Given the description of an element on the screen output the (x, y) to click on. 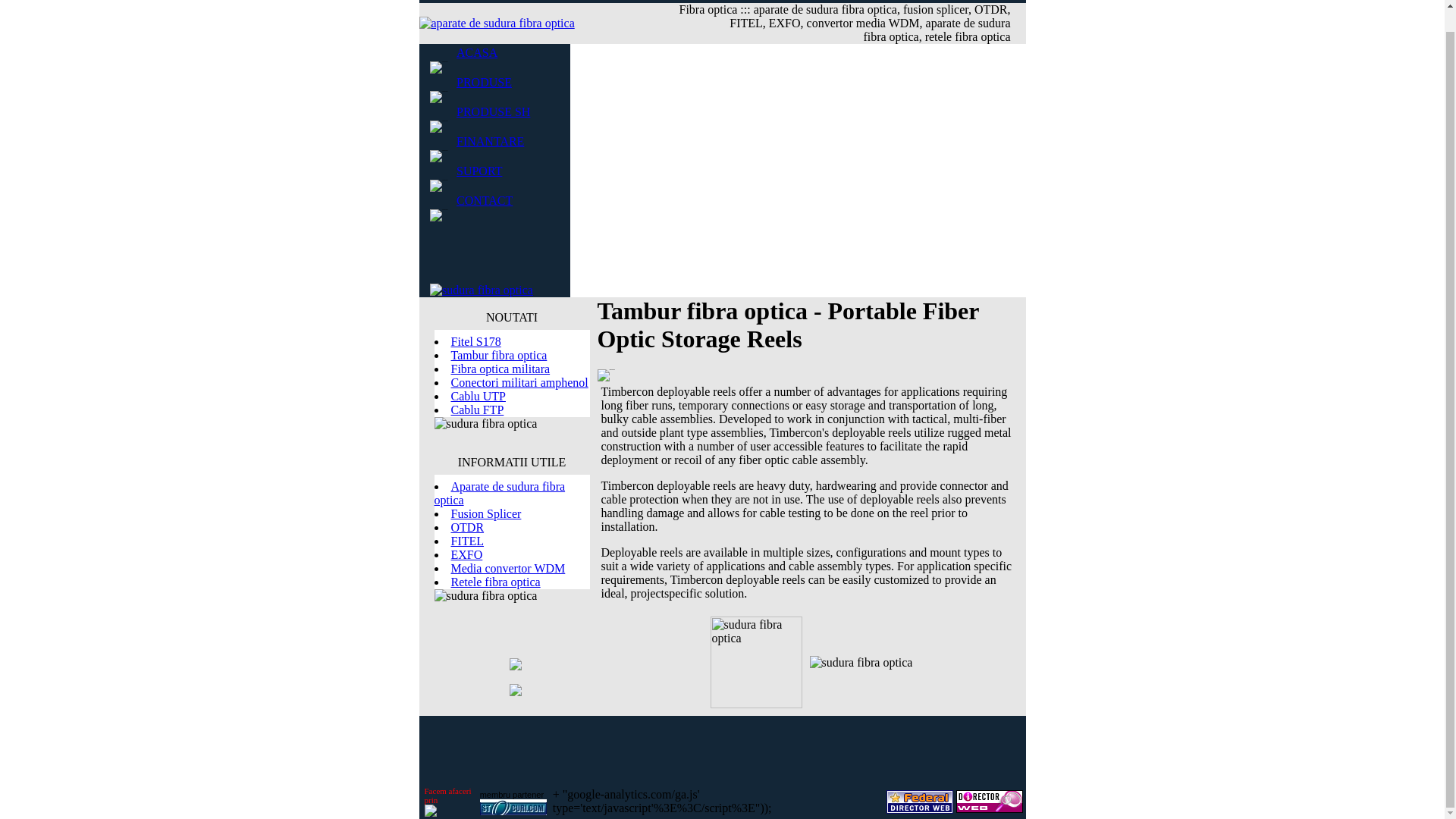
sudura fibra optica (479, 170)
Advertisement (721, 749)
SUPORT (479, 170)
sudura fibra optica (493, 111)
PRODUSE (484, 81)
sudura fibra optica (484, 199)
OTDR (466, 526)
EXFO (465, 554)
PRODUSE SH (493, 111)
Cablu UTP (477, 395)
